Given the description of an element on the screen output the (x, y) to click on. 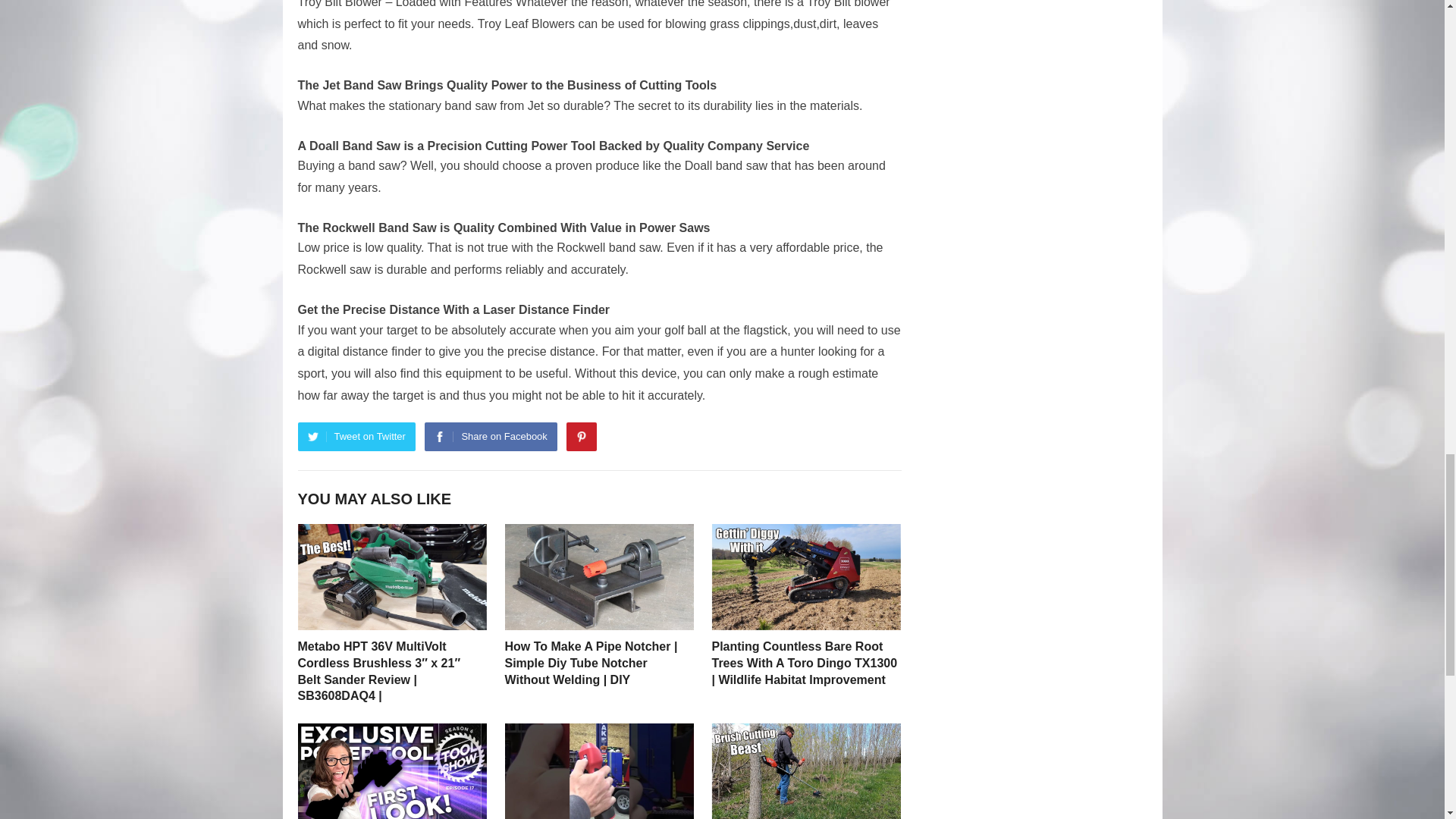
Share on Facebook (490, 436)
Pinterest (581, 436)
Tweet on Twitter (355, 436)
